Given the description of an element on the screen output the (x, y) to click on. 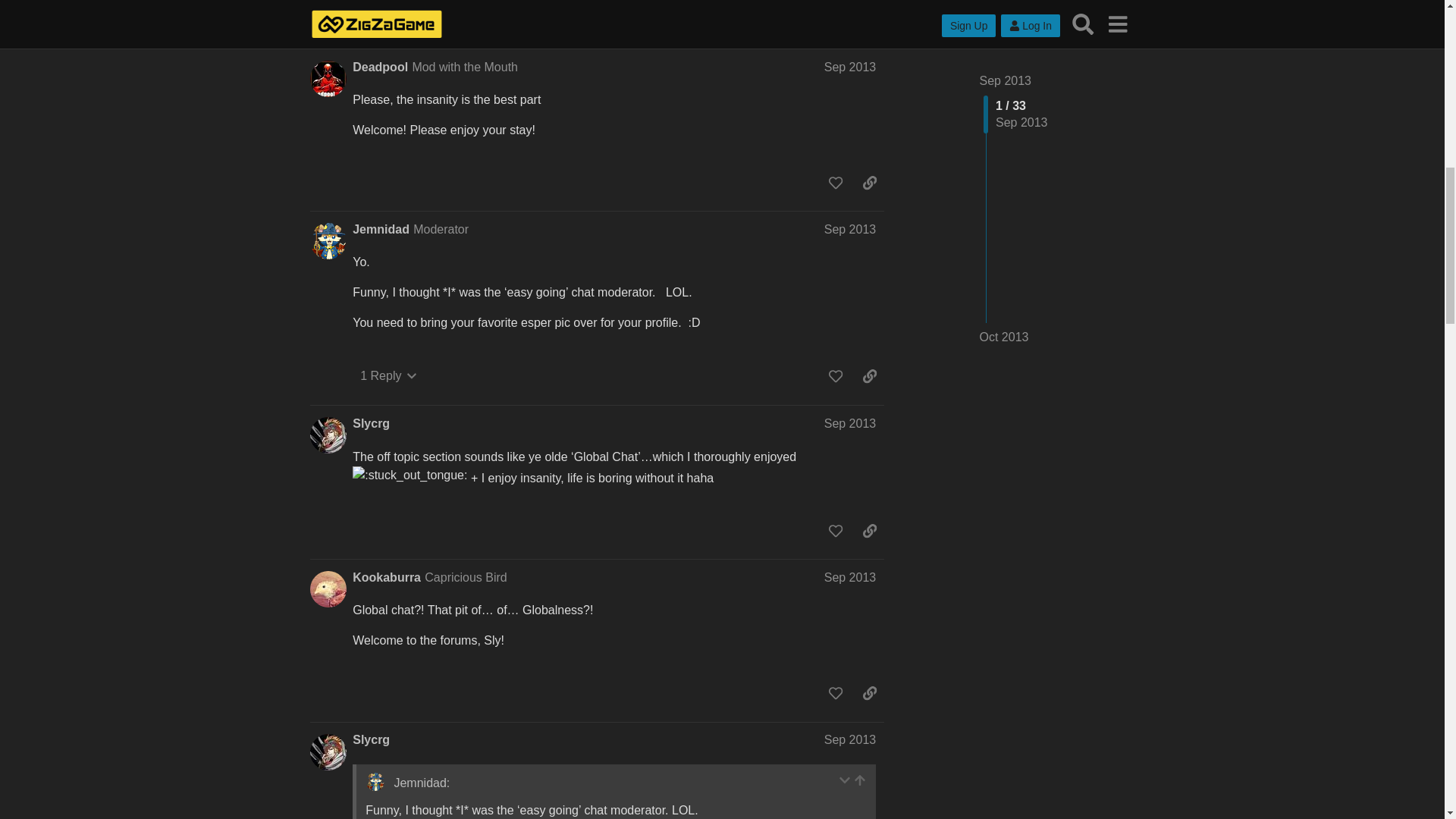
Sep 2013 (850, 66)
Deadpool (379, 67)
